Given the description of an element on the screen output the (x, y) to click on. 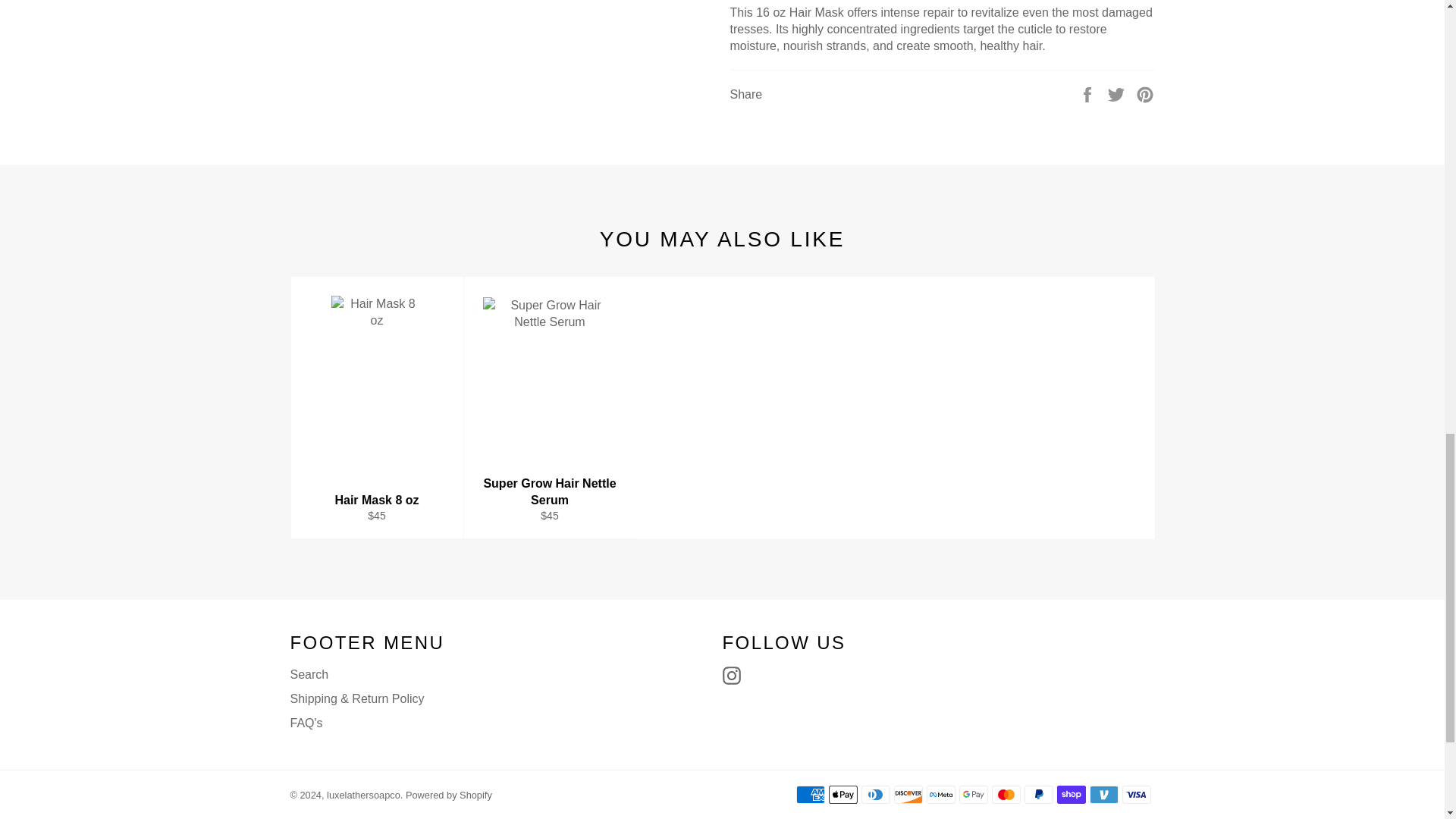
Share on Facebook (1088, 92)
FAQ's (305, 722)
luxelathersoapco on Instagram (735, 675)
Powered by Shopify (449, 794)
Pin on Pinterest (1144, 92)
Pin on Pinterest (1144, 92)
Share on Facebook (1088, 92)
luxelathersoapco (363, 794)
Instagram (735, 675)
Tweet on Twitter (1117, 92)
Tweet on Twitter (1117, 92)
Search (309, 674)
